Given the description of an element on the screen output the (x, y) to click on. 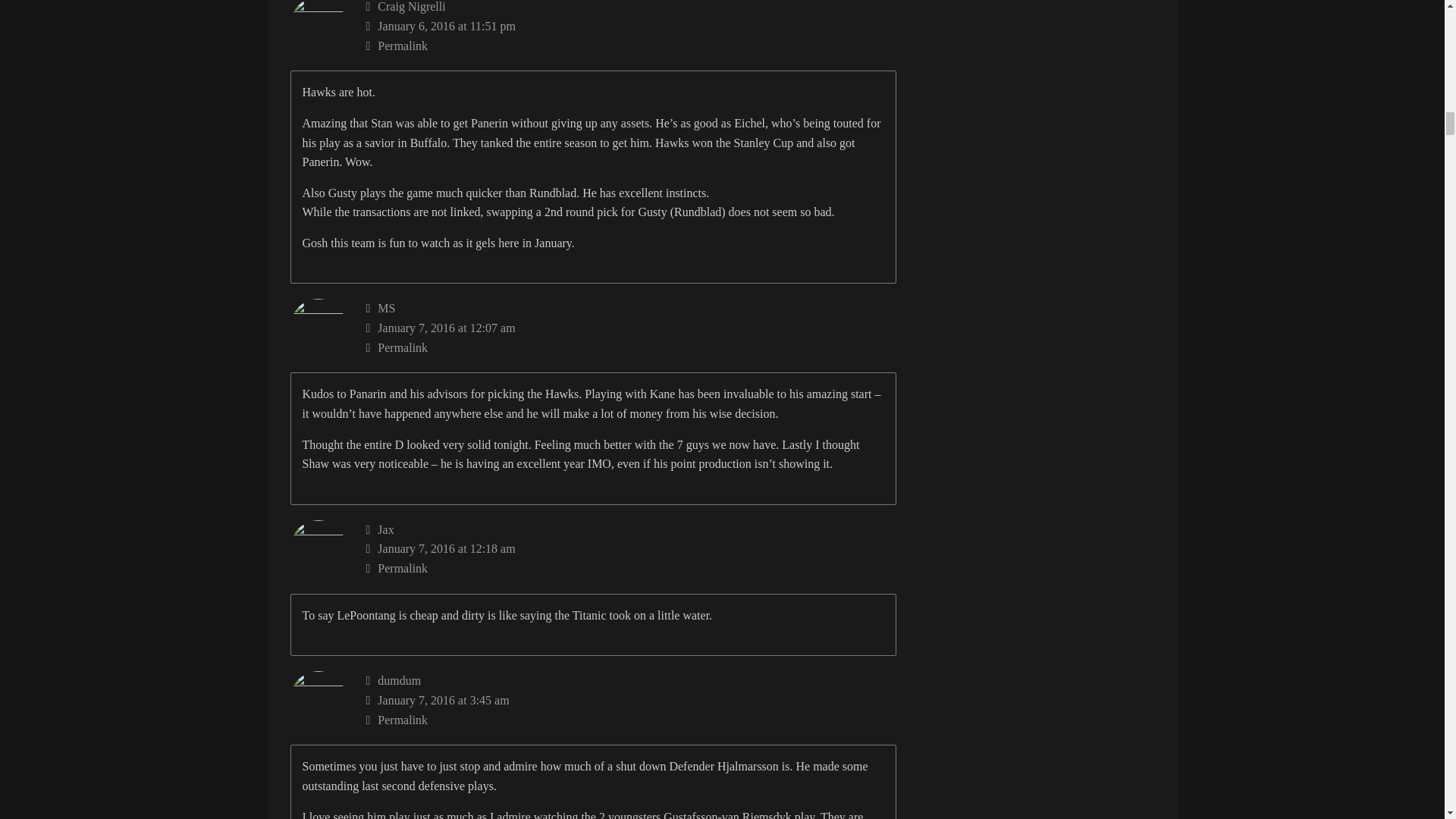
Permalink (630, 720)
Permalink (630, 568)
Permalink (630, 46)
Permalink (630, 347)
